Given the description of an element on the screen output the (x, y) to click on. 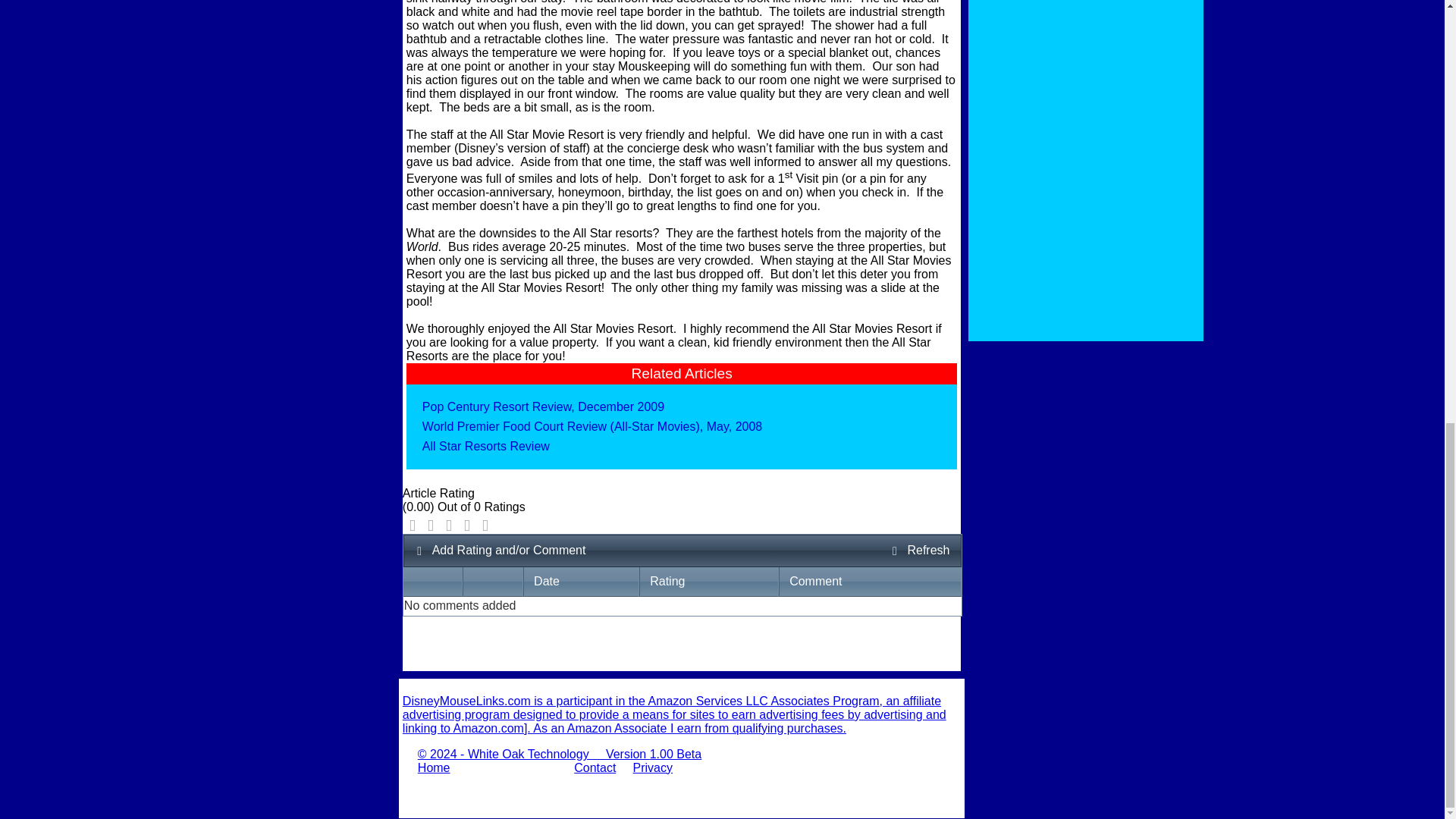
0 (430, 524)
0 (485, 524)
Refresh (920, 550)
Refresh (920, 550)
0 (467, 524)
0 (412, 524)
Pop Century Resort Review, December 2009 (542, 406)
0 (448, 524)
All Star Resorts Review (486, 445)
